Given the description of an element on the screen output the (x, y) to click on. 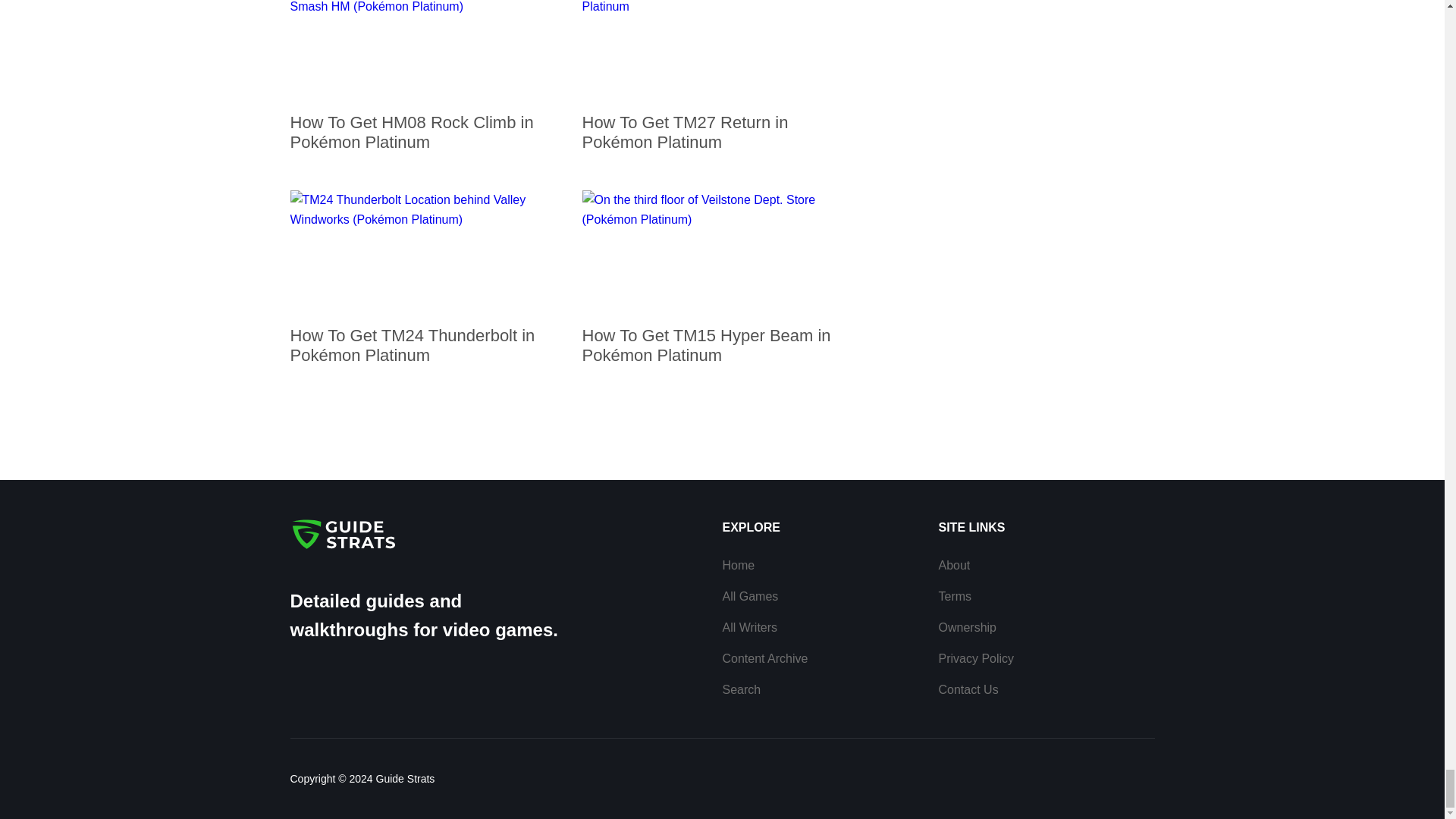
Search (741, 689)
Home (738, 564)
All Games (749, 595)
Content Archive (765, 658)
About (955, 564)
All Writers (749, 626)
Contact Us (968, 689)
Ownership (967, 626)
Privacy Policy (976, 658)
Terms (955, 595)
